Given the description of an element on the screen output the (x, y) to click on. 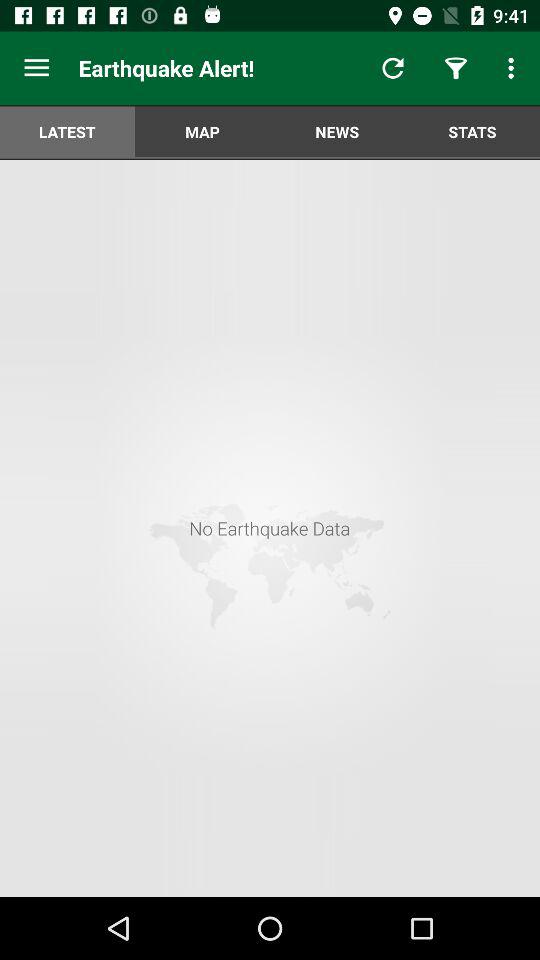
press app next to the earthquake alert! icon (36, 68)
